Given the description of an element on the screen output the (x, y) to click on. 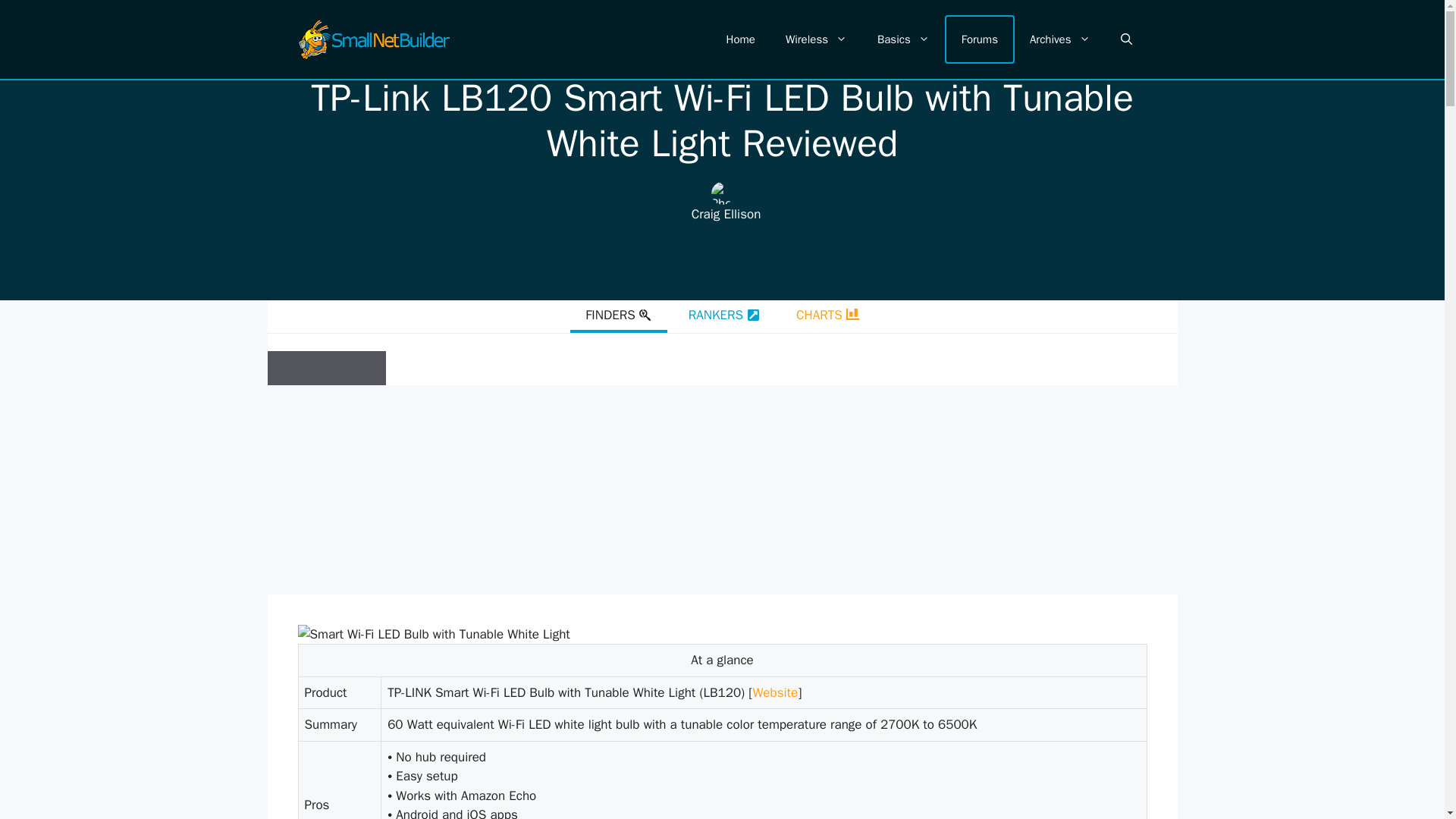
Archives (1059, 39)
Basics (902, 39)
Forums (979, 39)
Home (740, 39)
Wireless (815, 39)
